Given the description of an element on the screen output the (x, y) to click on. 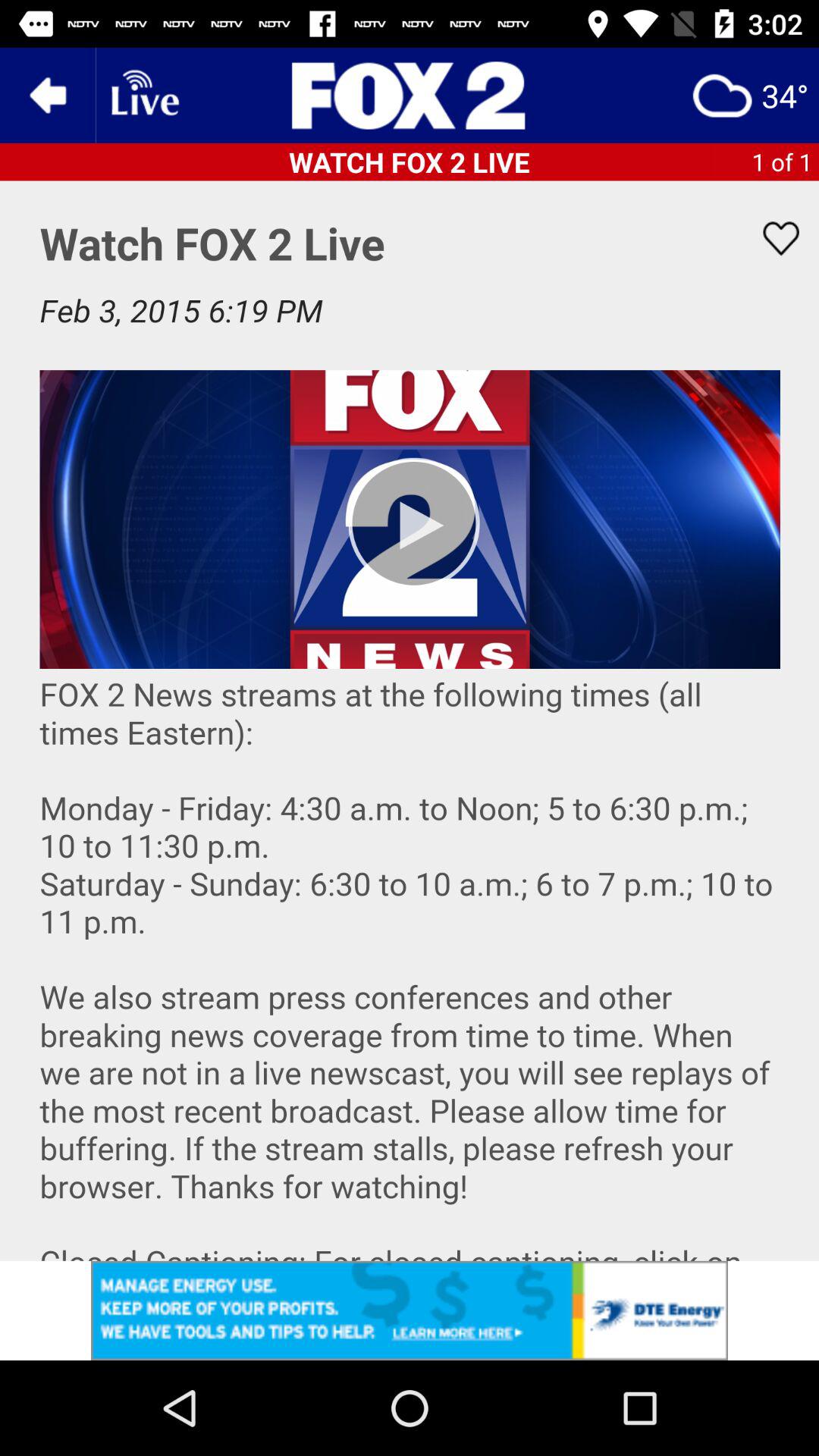
goto website (409, 95)
